Given the description of an element on the screen output the (x, y) to click on. 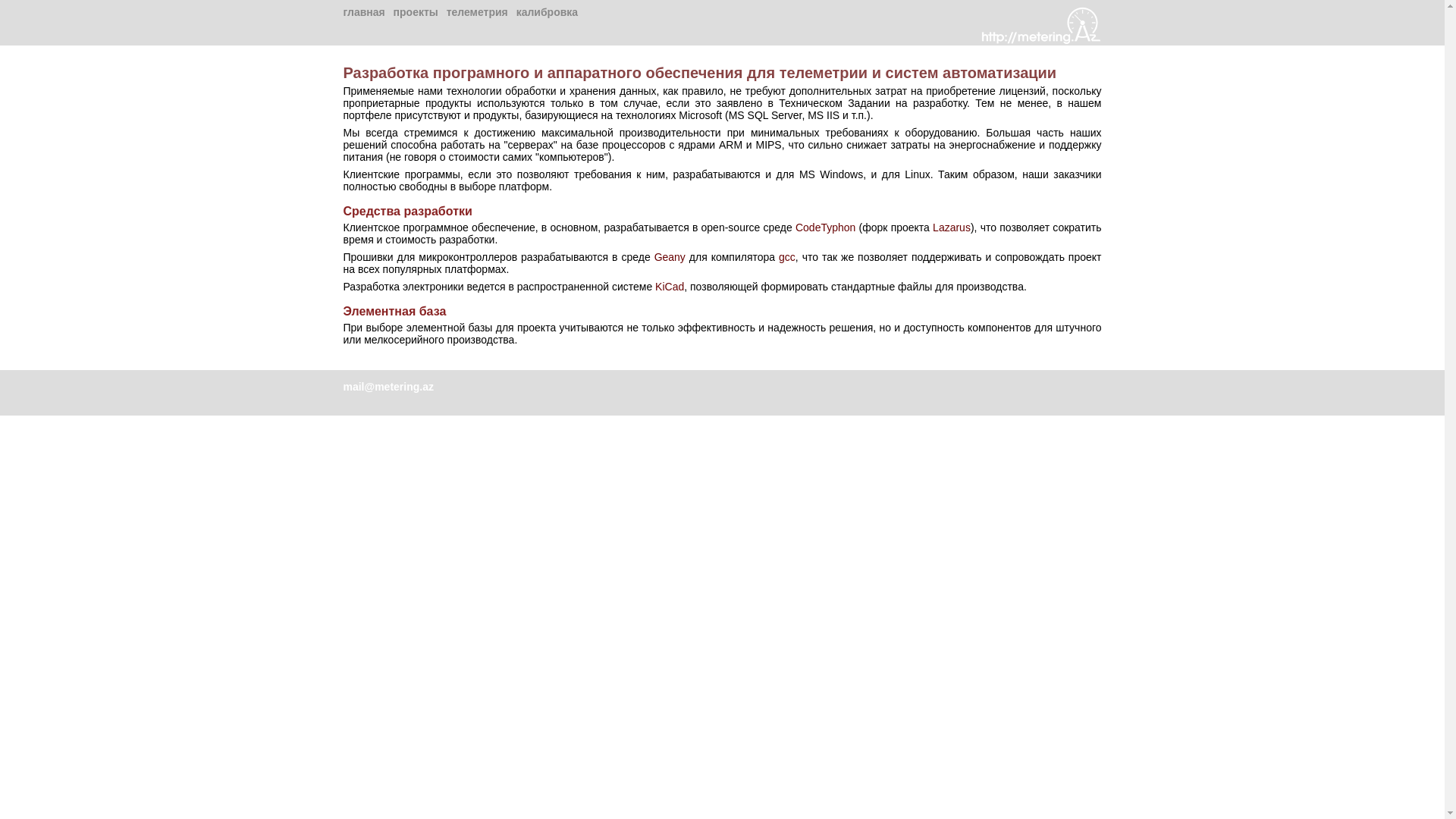
KiCad Element type: text (669, 286)
Geany Element type: text (669, 257)
mail@metering.az Element type: text (387, 386)
Lazarus Element type: text (951, 227)
gcc Element type: text (786, 257)
CodeTyphon Element type: text (825, 227)
